Given the description of an element on the screen output the (x, y) to click on. 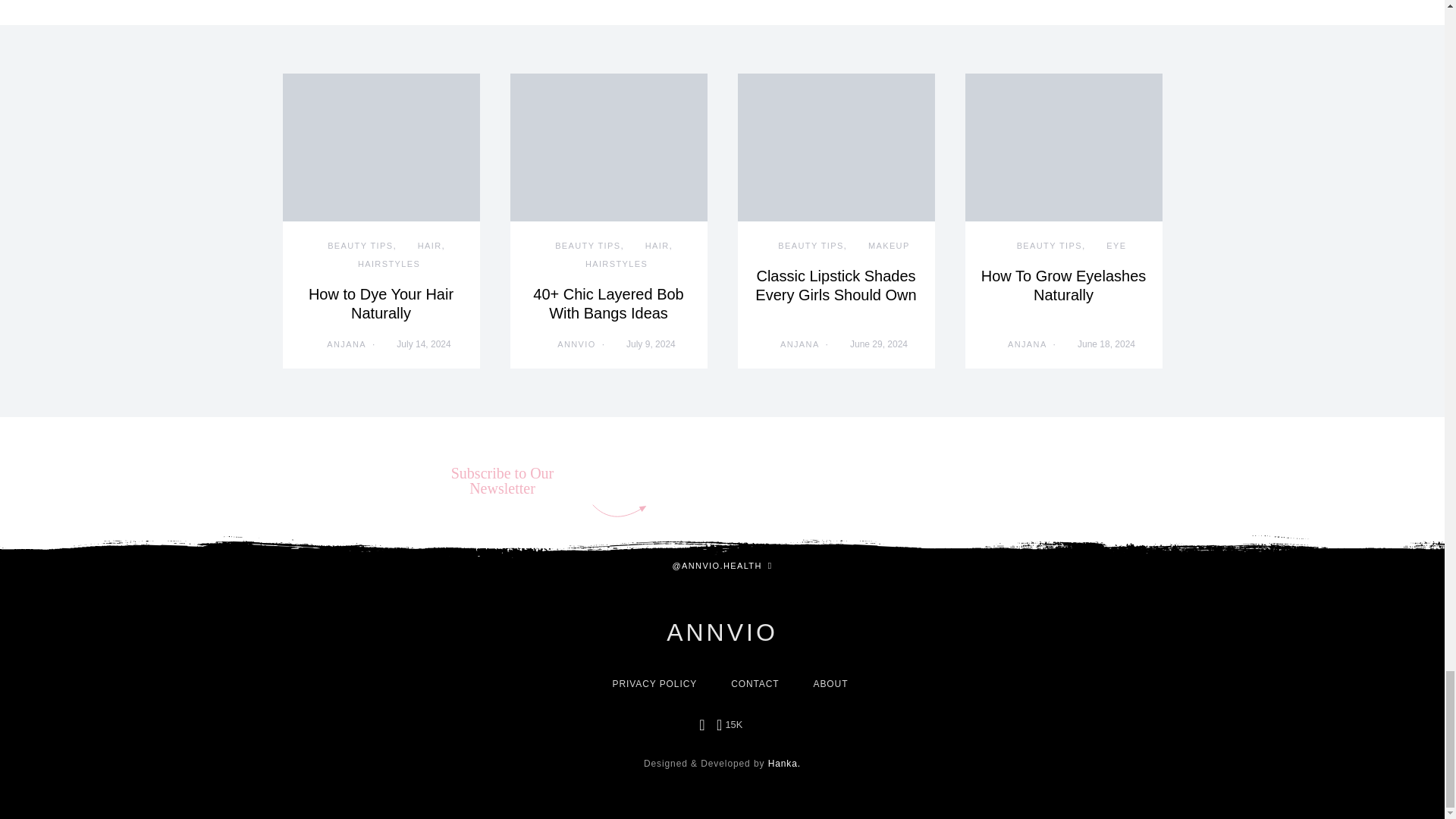
How to Dye Your Hair Naturally (380, 303)
